Given the description of an element on the screen output the (x, y) to click on. 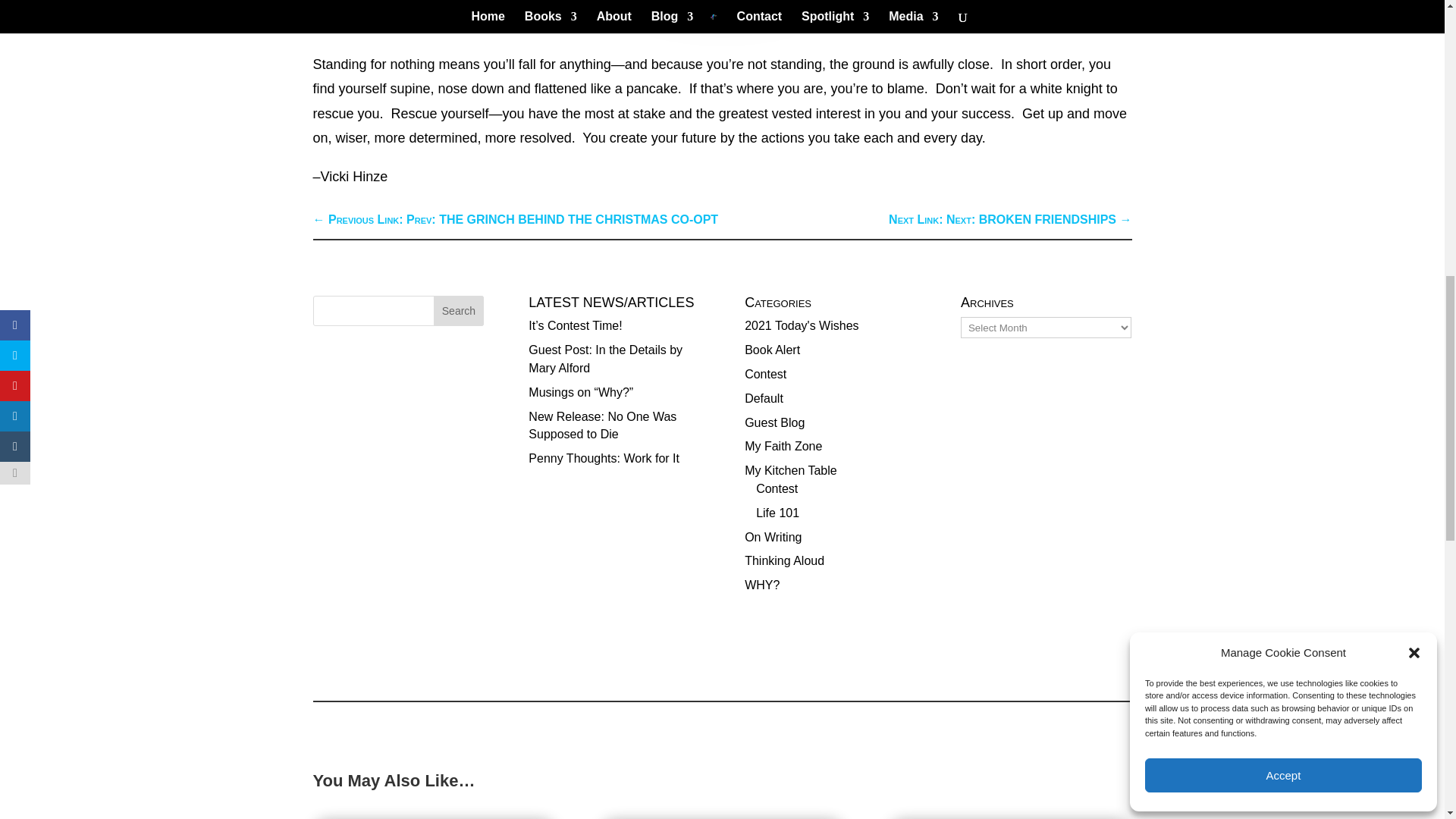
Search (1106, 12)
Search (1106, 12)
Search (458, 310)
